Given the description of an element on the screen output the (x, y) to click on. 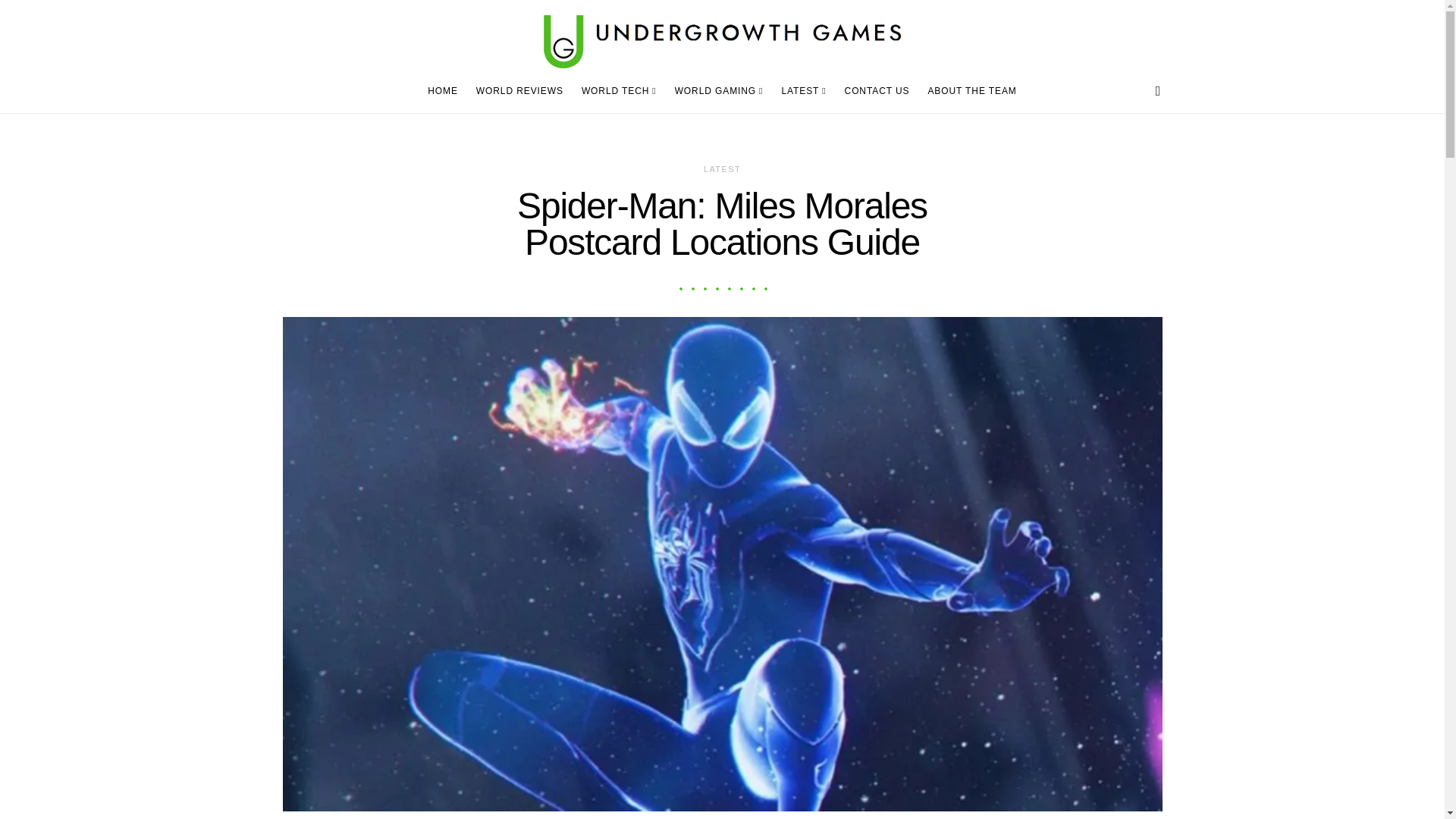
WORLD GAMING (719, 90)
CONTACT US (876, 90)
WORLD TECH (618, 90)
ABOUT THE TEAM (967, 90)
LATEST (722, 168)
LATEST (802, 90)
WORLD REVIEWS (519, 90)
